Given the description of an element on the screen output the (x, y) to click on. 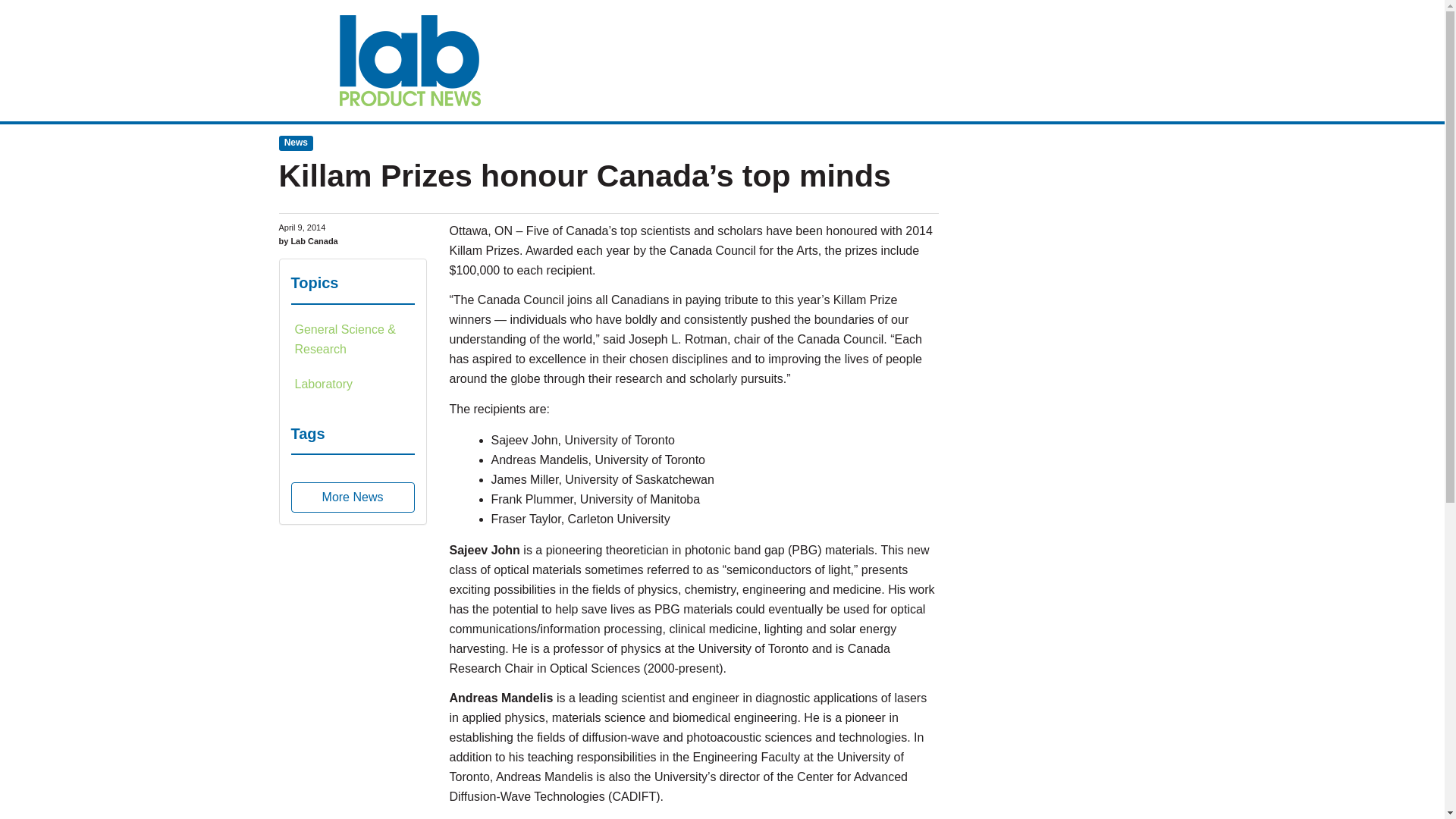
Laboratory (352, 384)
News (296, 142)
Click to show site navigation (293, 39)
Lab Canada (409, 60)
More News (352, 497)
